Given the description of an element on the screen output the (x, y) to click on. 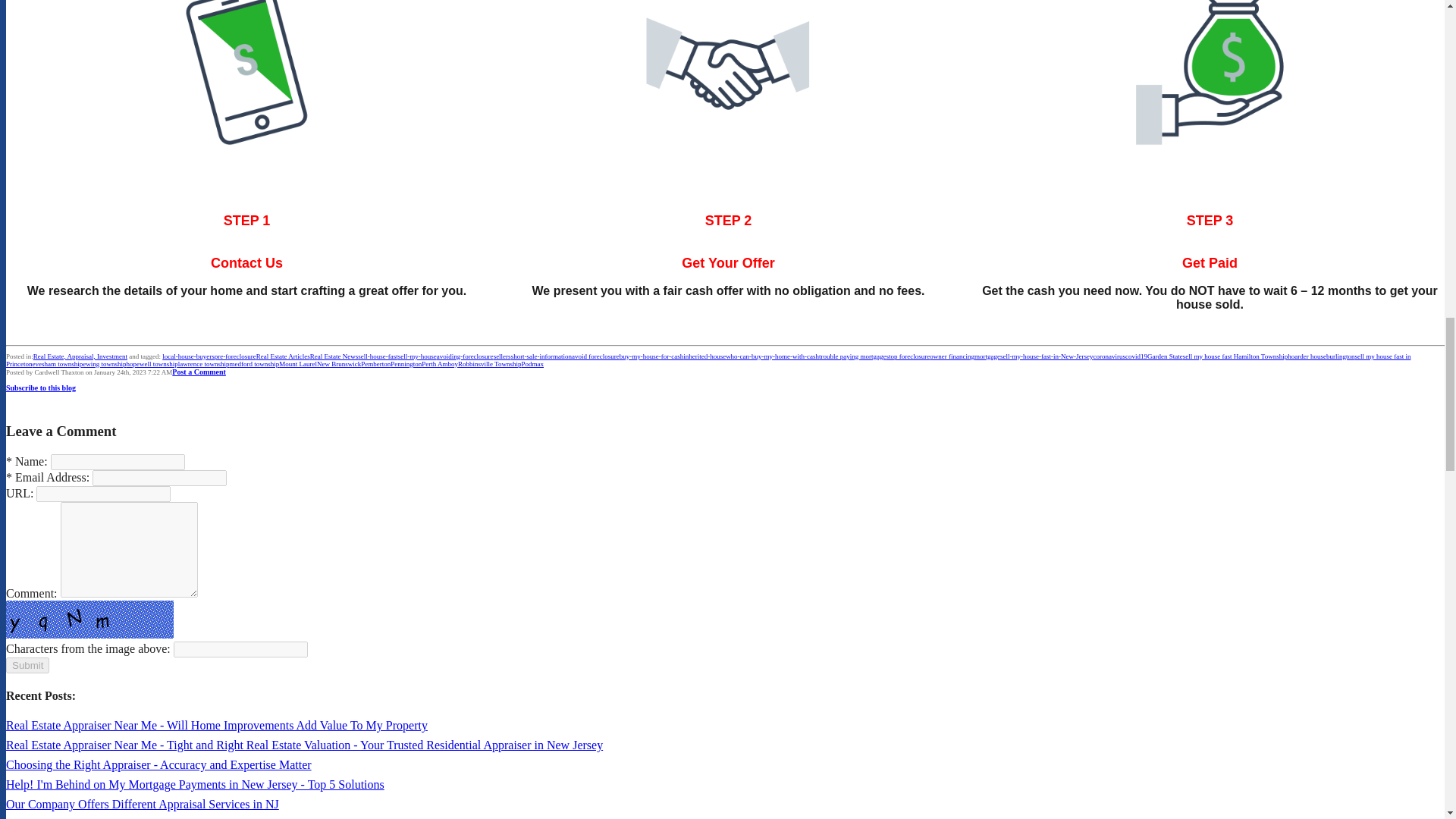
medford township (253, 363)
Real Estate Articles (283, 356)
hopewell township (151, 363)
sell-house-fast (377, 356)
avoiding-foreclosure (464, 356)
sell-my-house (416, 356)
coronavirus (1109, 356)
evesham township (57, 363)
sell-my-house-fast-in-New-Jersey (1046, 356)
Real Estate News (334, 356)
pre-foreclosure (235, 356)
ewing township (103, 363)
sell my house fast Hamilton Township (1234, 356)
stop foreclosure (908, 356)
mortgage (987, 356)
